Given the description of an element on the screen output the (x, y) to click on. 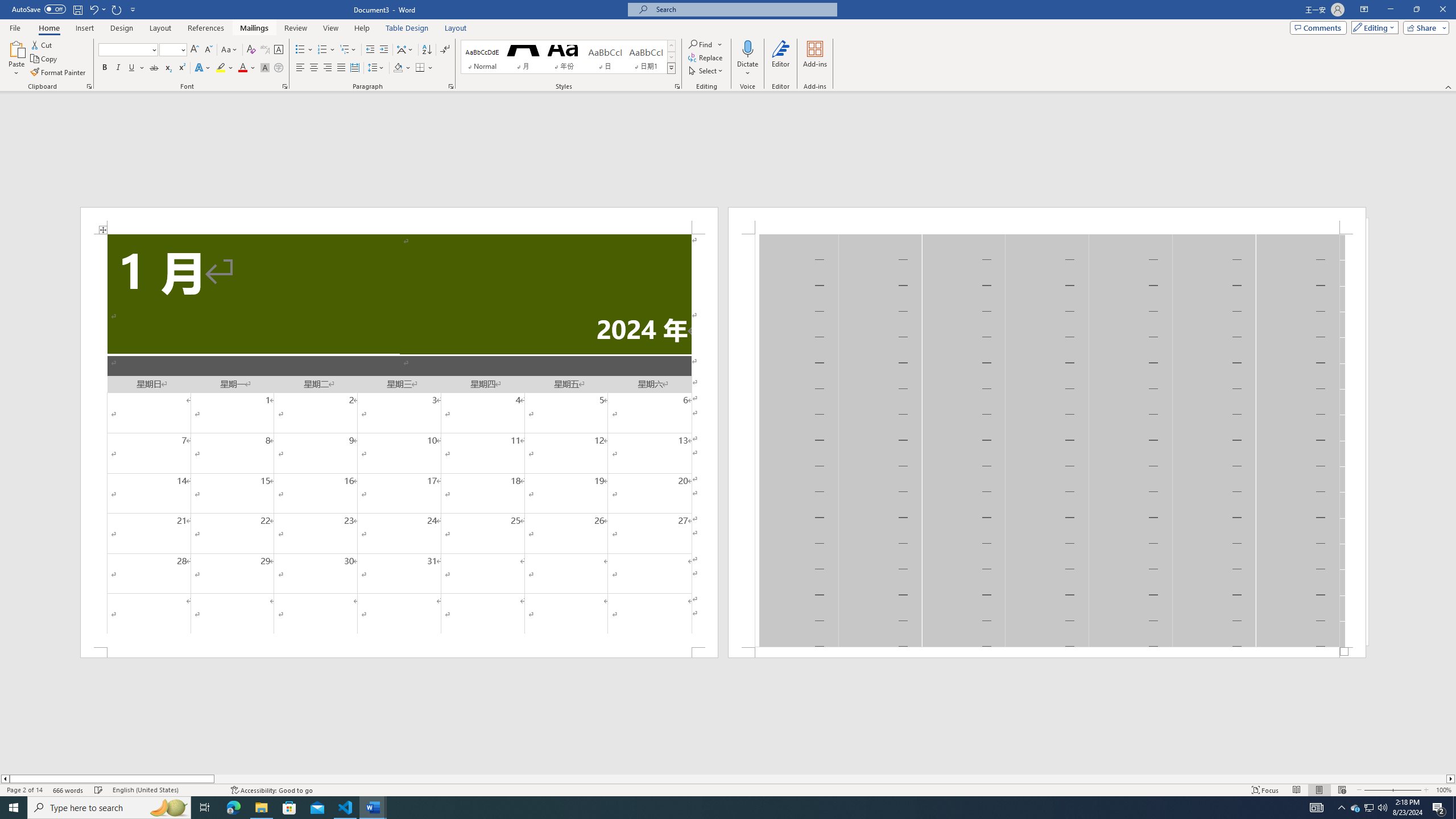
Page 2 content (1046, 440)
Word Count 666 words (68, 790)
